Given the description of an element on the screen output the (x, y) to click on. 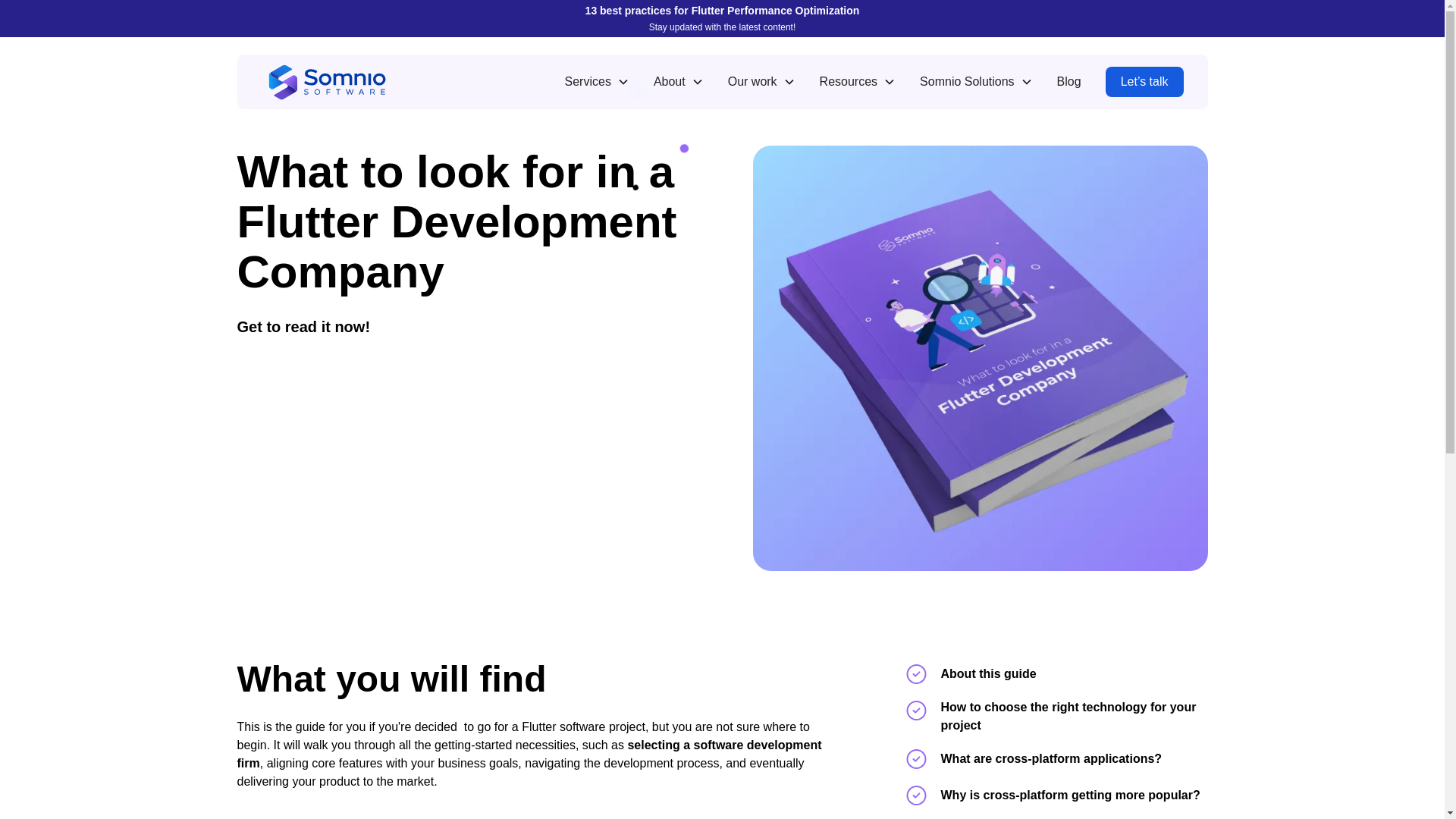
Blog (1069, 81)
Form 0 (463, 462)
